Given the description of an element on the screen output the (x, y) to click on. 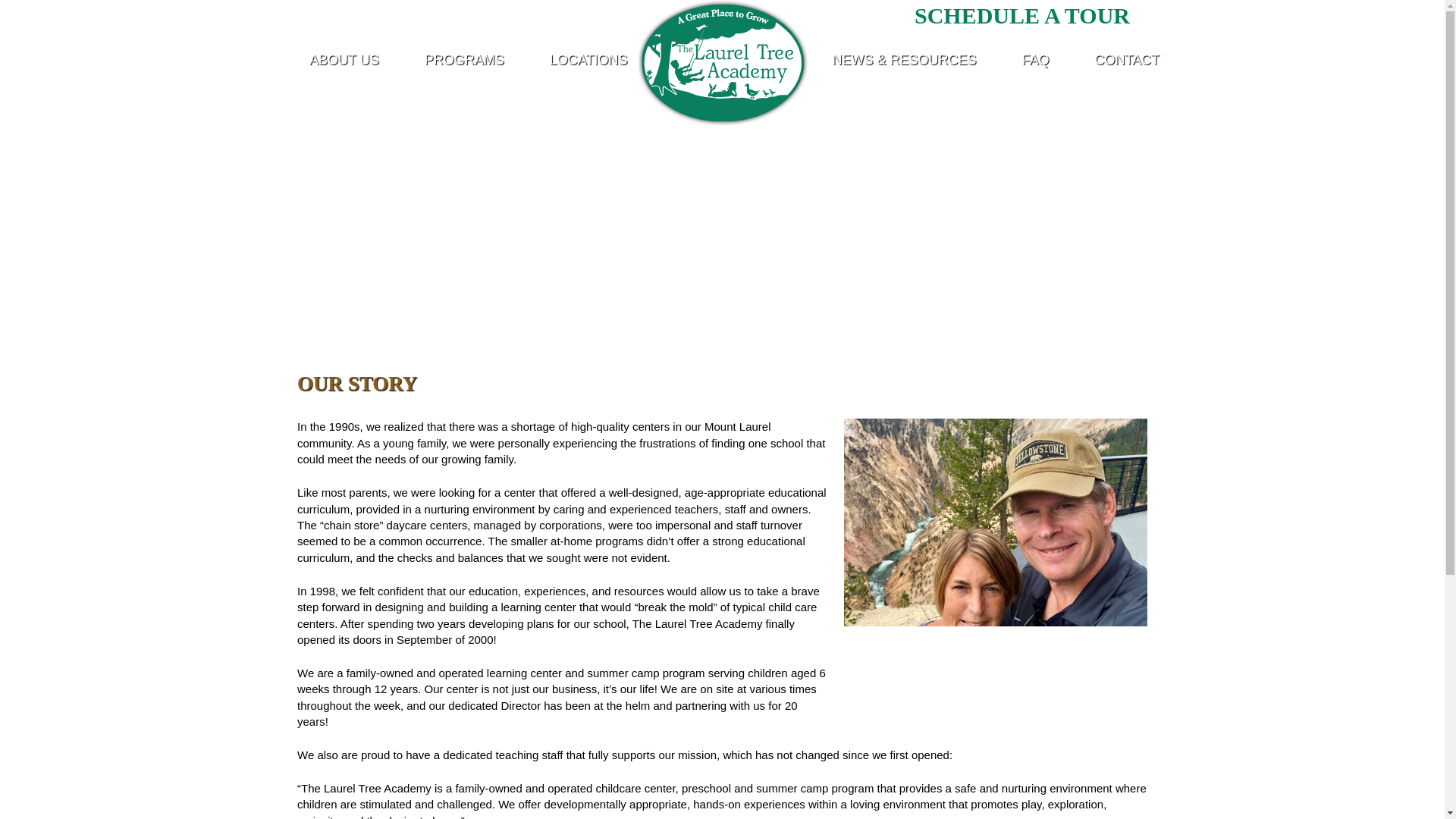
SCHEDULE A TOUR (1033, 15)
CONTACT (1126, 63)
PROGRAMS (464, 63)
LOCATIONS (588, 63)
ABOUT US (343, 63)
FAQ (1034, 63)
